Given the description of an element on the screen output the (x, y) to click on. 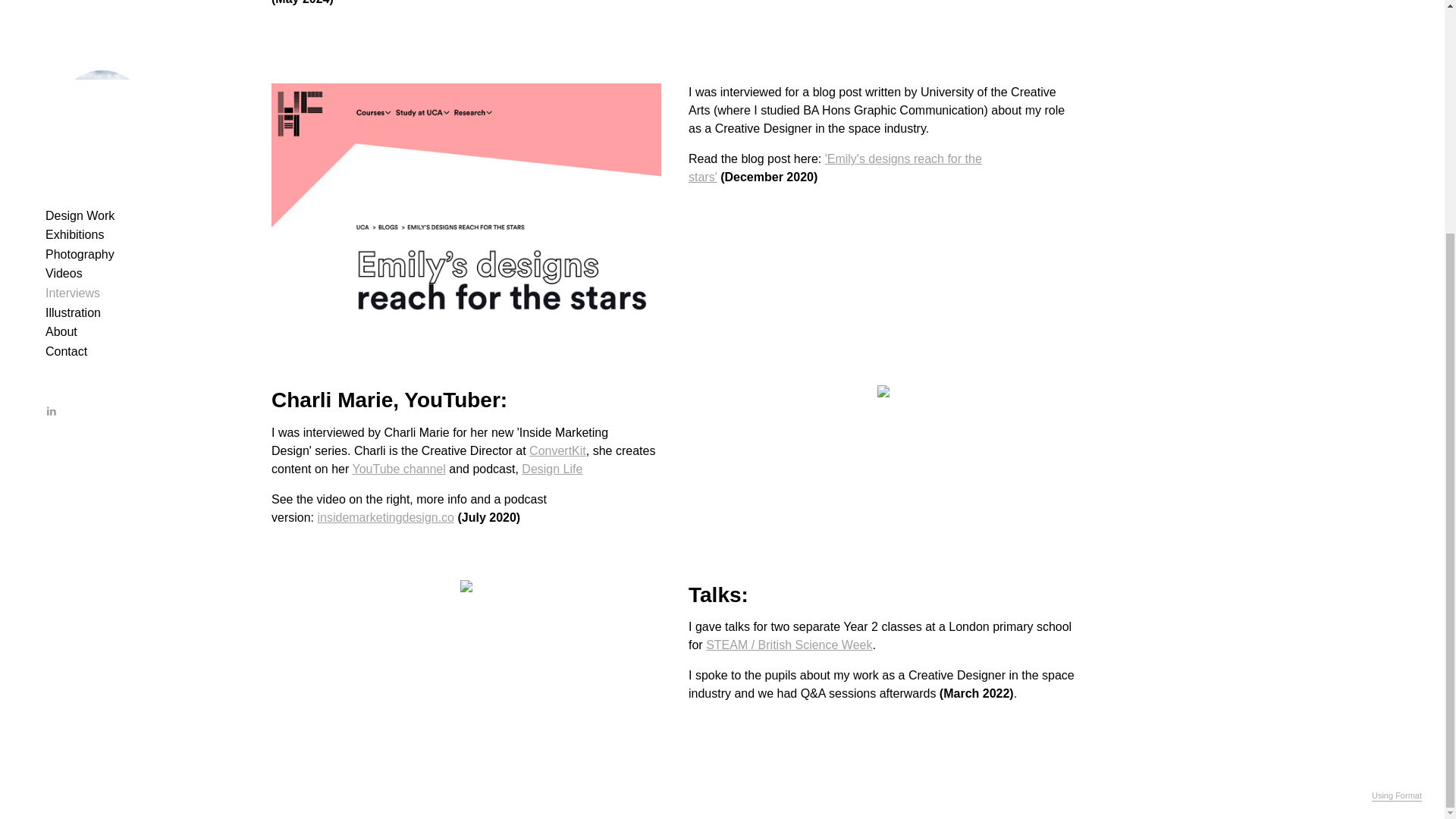
insidemarketingdesign.co (385, 517)
About (61, 14)
Contact (66, 33)
Design Life (551, 468)
Illustration (72, 1)
'Emily's designs reach for the stars' (834, 167)
ConvertKit (557, 450)
Using Format (1396, 479)
YouTube channel (398, 468)
